Given the description of an element on the screen output the (x, y) to click on. 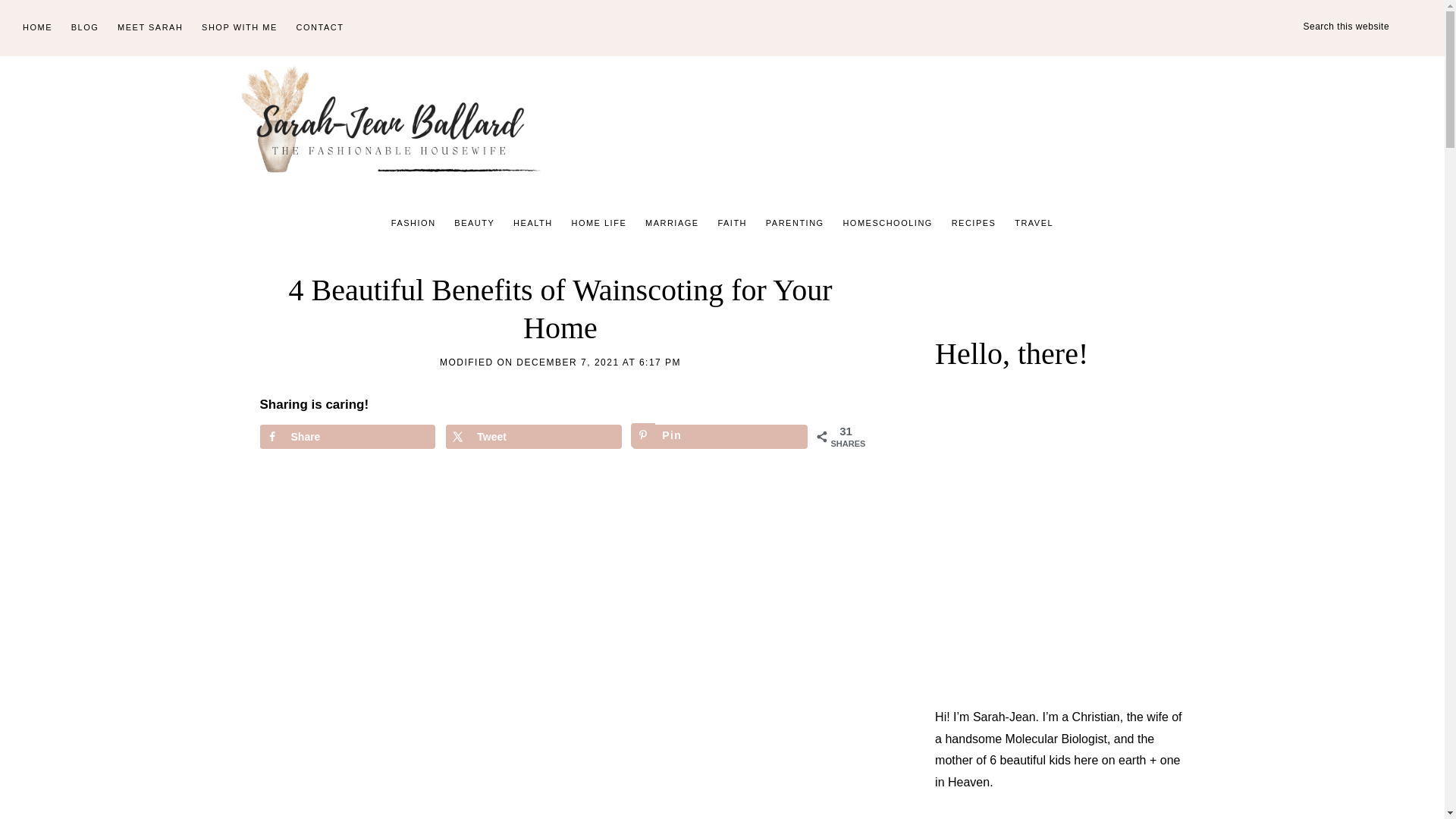
SHOP WITH ME (239, 27)
Share on X (533, 436)
HEALTH (532, 223)
Share on Facebook (346, 436)
Save to Pinterest (719, 436)
HOME (36, 27)
BEAUTY (474, 223)
